Given the description of an element on the screen output the (x, y) to click on. 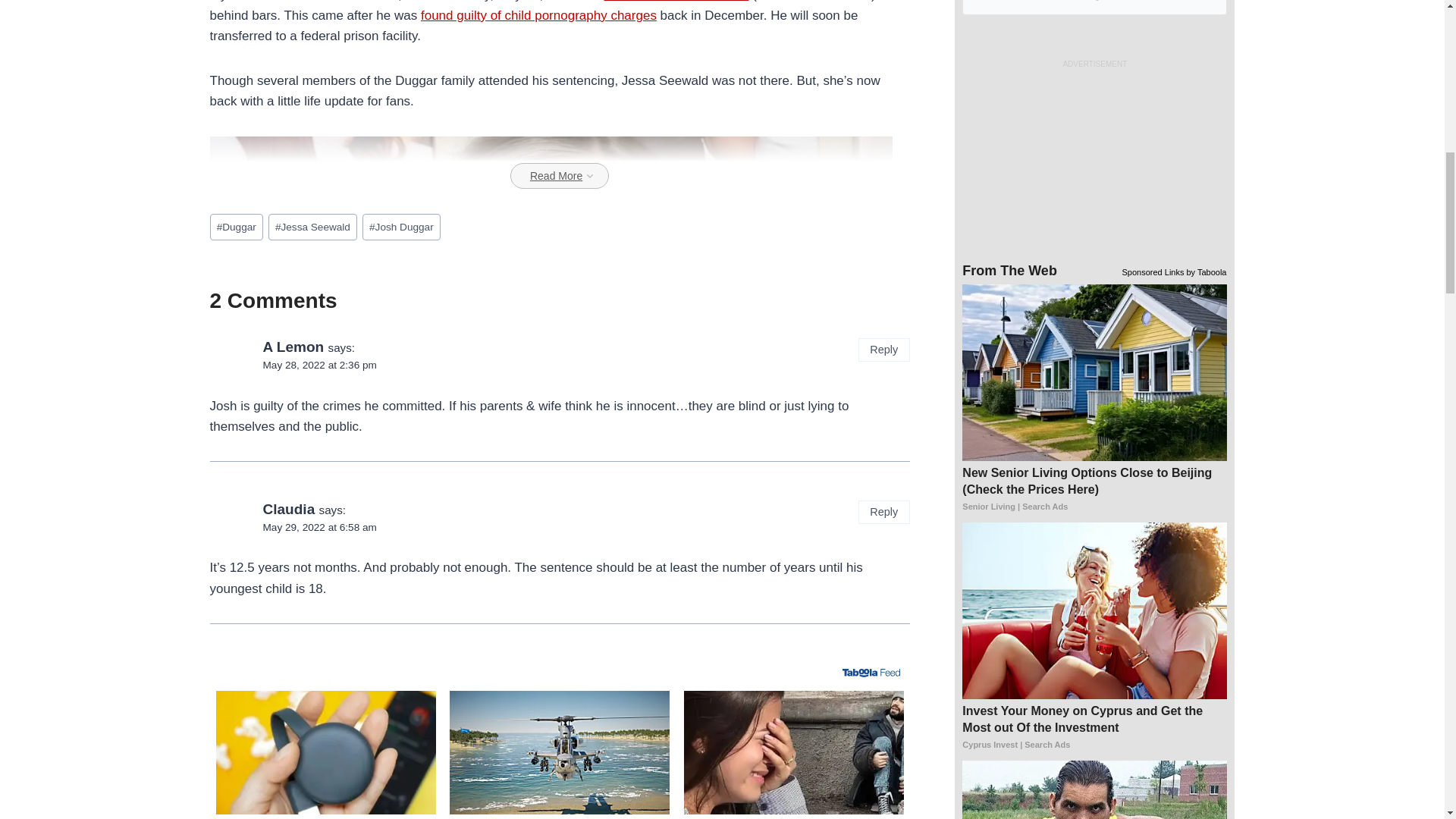
Josh Duggar (401, 226)
found guilty of child pornography charges (538, 15)
sentenced to 151 months (676, 1)
Jessa Seewald (311, 226)
Duggar (235, 226)
